Given the description of an element on the screen output the (x, y) to click on. 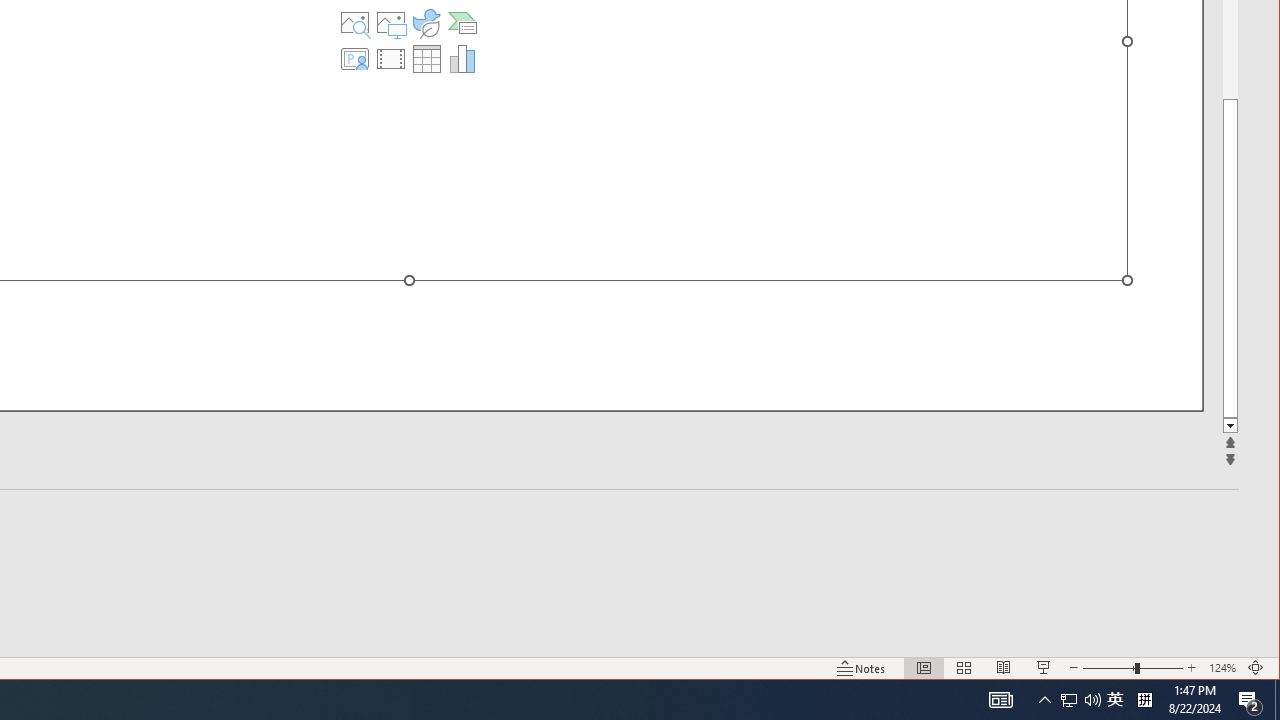
Line down (1230, 426)
Pictures (391, 22)
Slide Show (1115, 699)
Insert Cameo (1043, 668)
Insert Table (355, 58)
User Promoted Notification Area (426, 58)
Zoom to Fit  (1080, 699)
Tray Input Indicator - Chinese (Simplified, China) (1256, 668)
Show desktop (1144, 699)
Zoom 124% (1277, 699)
Notes  (1222, 668)
Zoom (861, 668)
Insert a SmartArt Graphic (1132, 668)
